Given the description of an element on the screen output the (x, y) to click on. 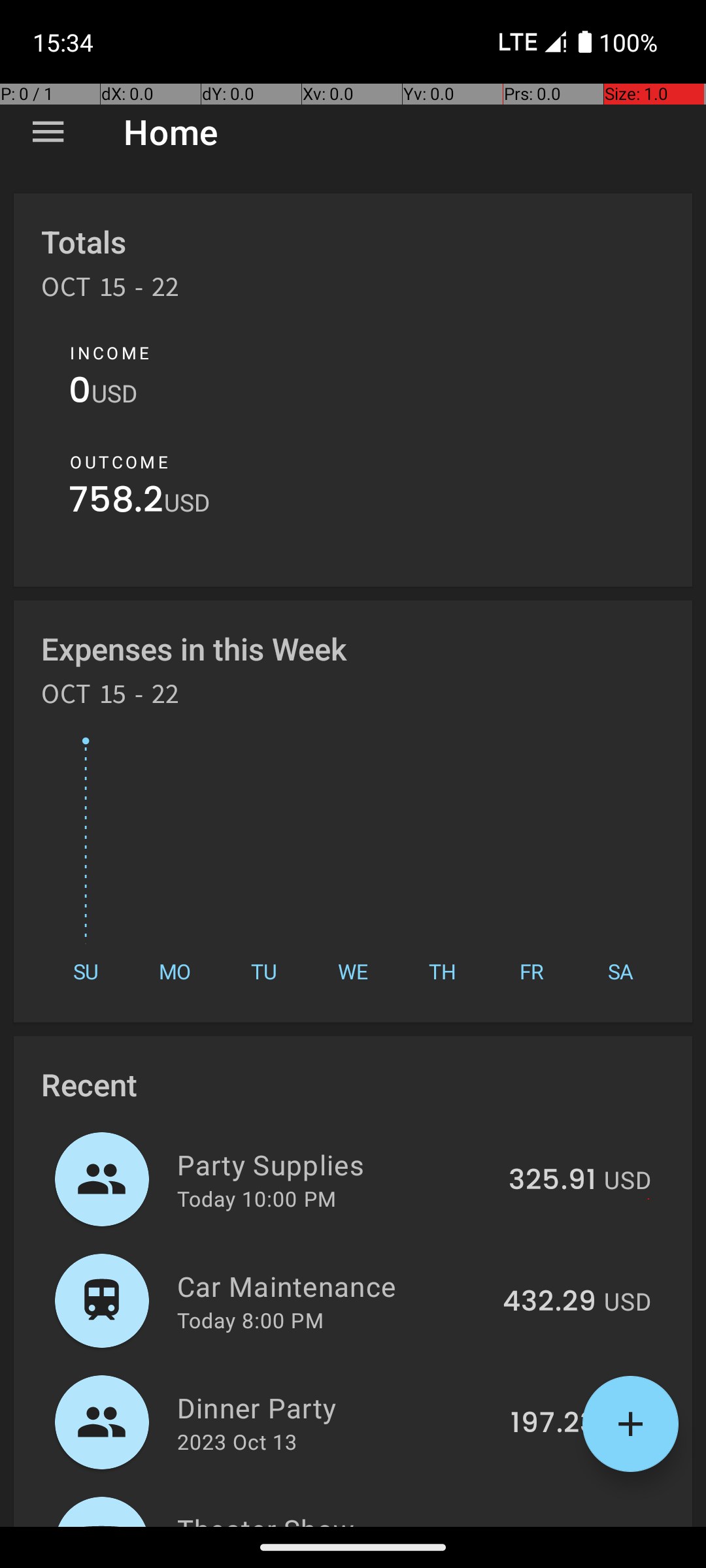
758.2 Element type: android.widget.TextView (116, 502)
325.91 Element type: android.widget.TextView (551, 1180)
Car Maintenance Element type: android.widget.TextView (332, 1285)
432.29 Element type: android.widget.TextView (549, 1301)
Dinner Party Element type: android.widget.TextView (336, 1407)
197.23 Element type: android.widget.TextView (552, 1423)
Theater Show Element type: android.widget.TextView (331, 1518)
353.52 Element type: android.widget.TextView (548, 1524)
